Given the description of an element on the screen output the (x, y) to click on. 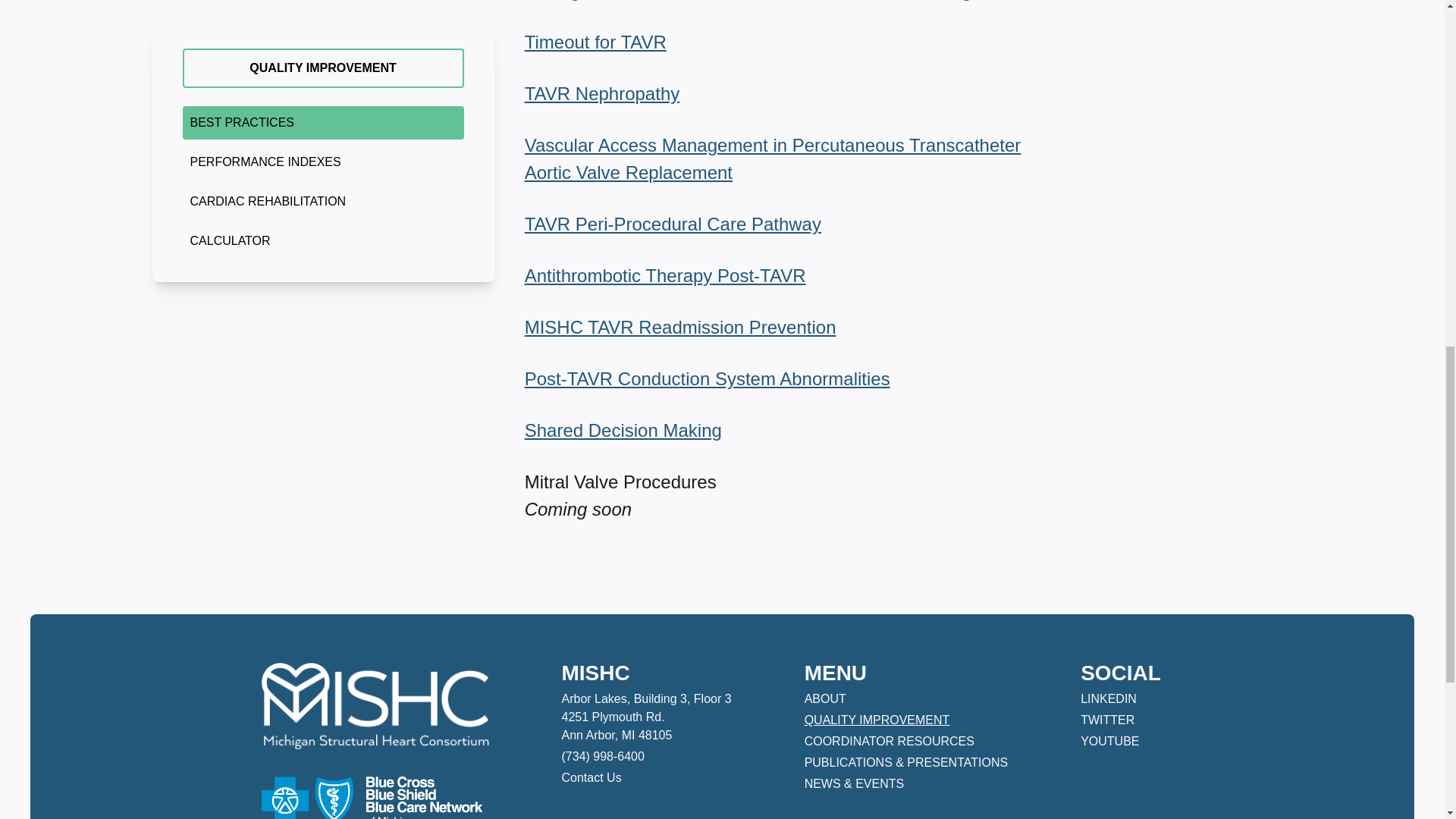
MISHC TAVR Readmission Prevention (679, 326)
TAVR Nephropathy (601, 93)
Timeout for TAVR (595, 41)
Antithrombotic Therapy Post-TAVR (665, 275)
TAVR Peri-Procedural Care Pathway (672, 223)
